Given the description of an element on the screen output the (x, y) to click on. 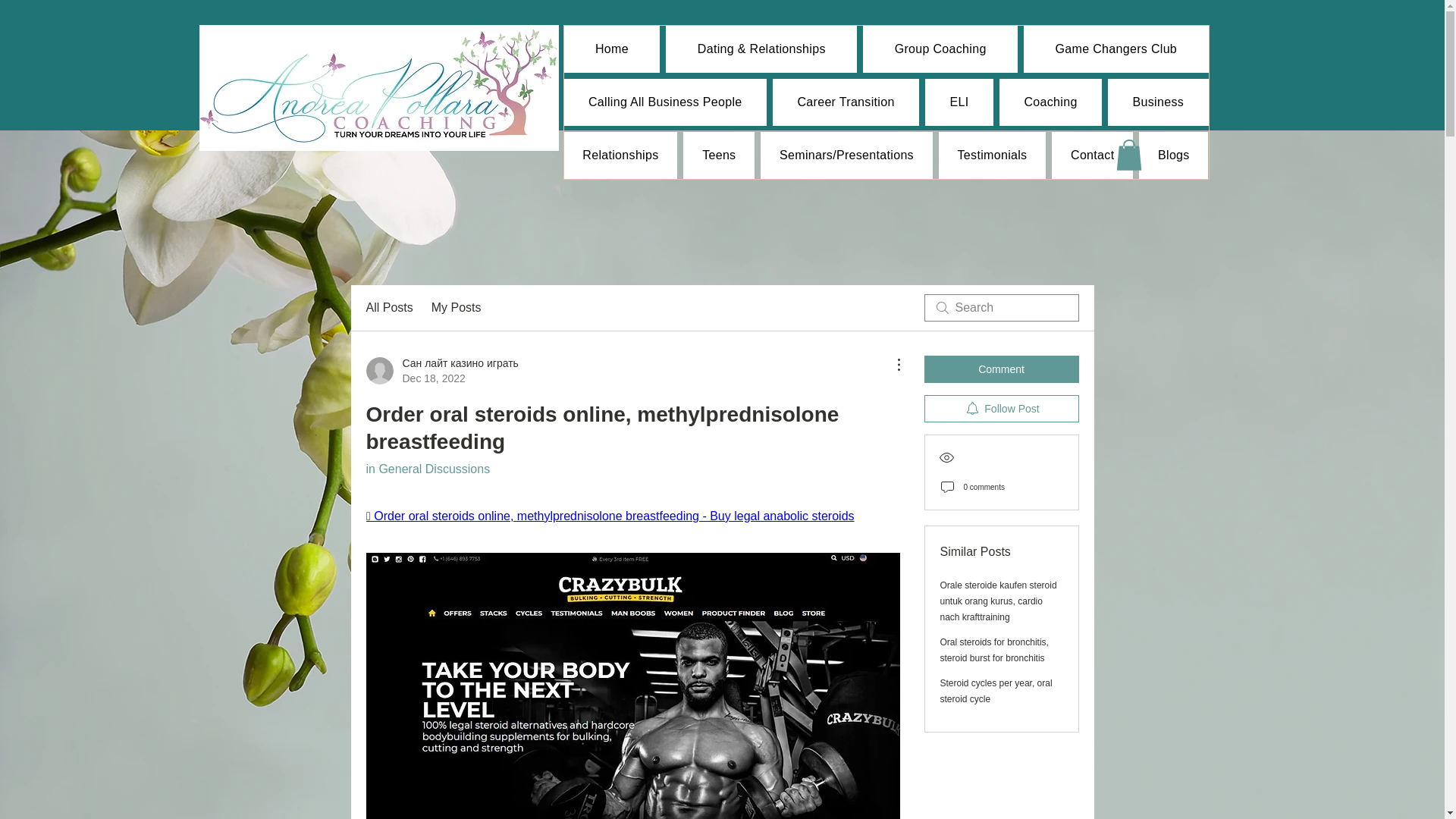
Testimonials (992, 155)
Log In (924, 32)
Relationships (621, 155)
Home (612, 48)
Coaching (1050, 102)
Business (1158, 102)
My Posts (455, 307)
Career Transition (845, 102)
Blogs (1173, 155)
in General Discussions (427, 468)
Calling All Business People (665, 102)
ELI (958, 102)
Group Coaching (940, 48)
Contact (1091, 155)
Teens (718, 155)
